Given the description of an element on the screen output the (x, y) to click on. 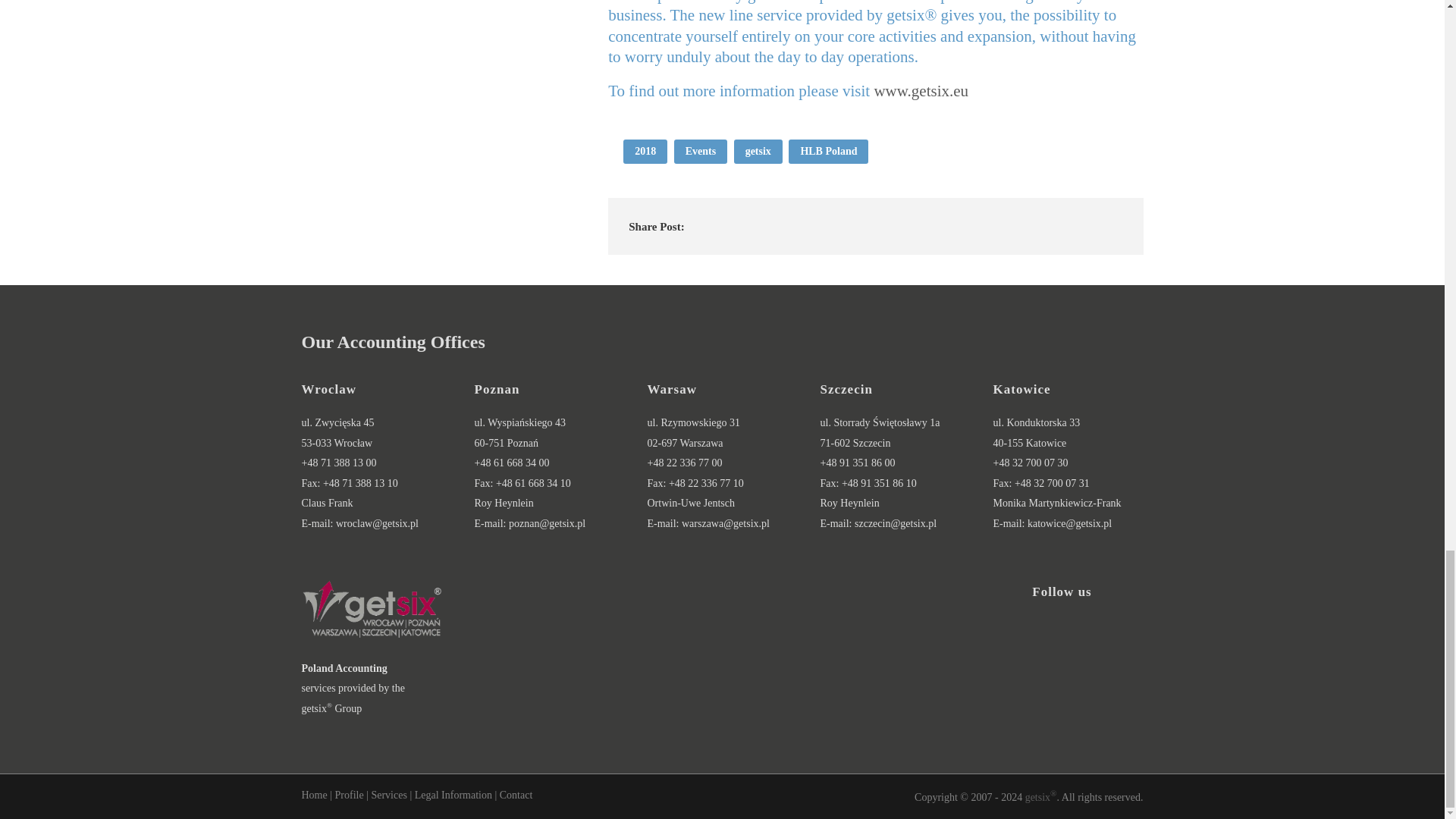
getsix Issuu (1088, 716)
getsix Facebook (1007, 655)
getsix Linkedin (1061, 655)
getsix Youtube (1035, 716)
getsix home (1041, 797)
getsix-logo (371, 609)
getsix Instagram (1116, 655)
